Given the description of an element on the screen output the (x, y) to click on. 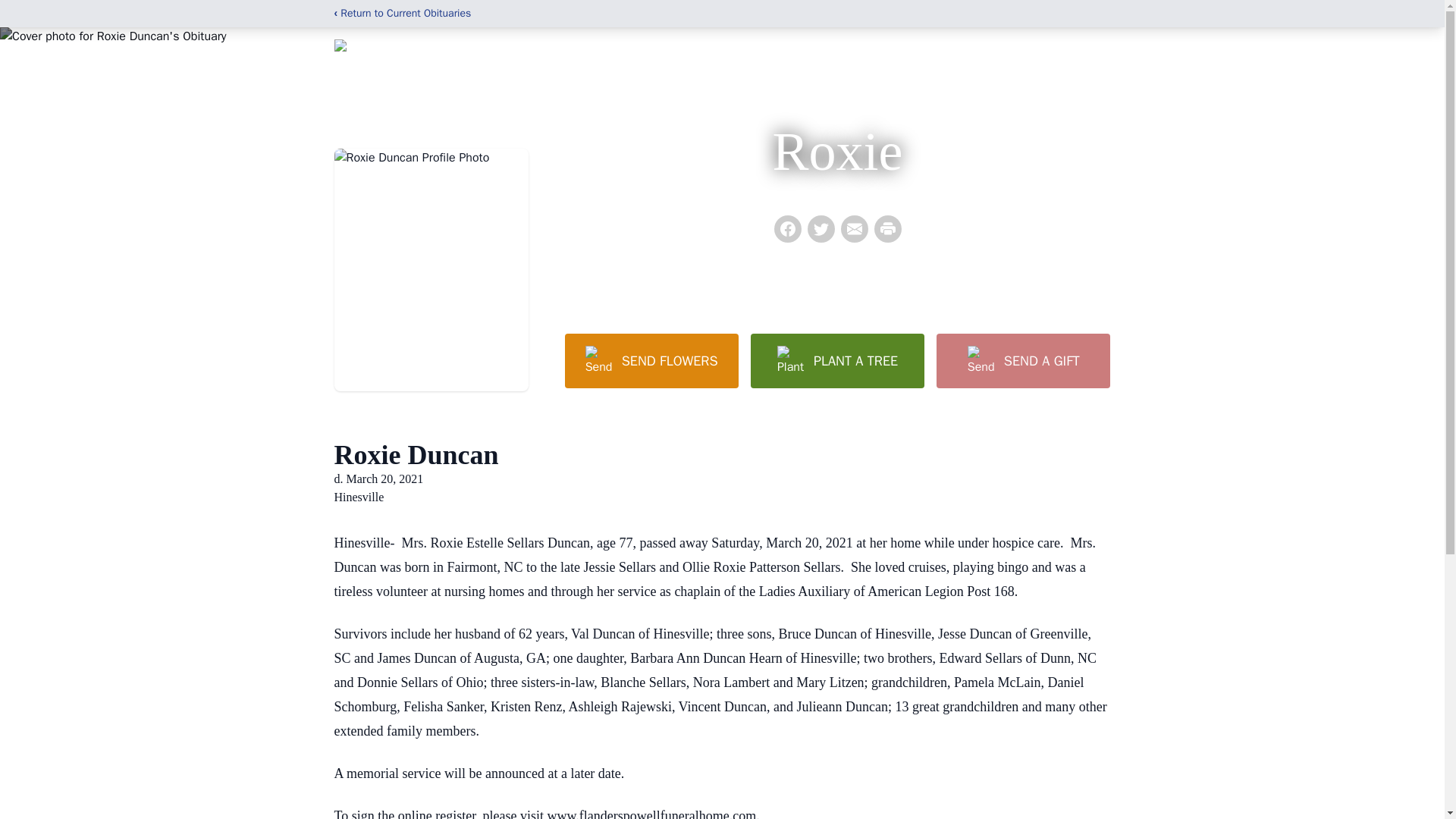
SEND A GIFT (1022, 360)
SEND FLOWERS (651, 360)
PLANT A TREE (837, 360)
